Given the description of an element on the screen output the (x, y) to click on. 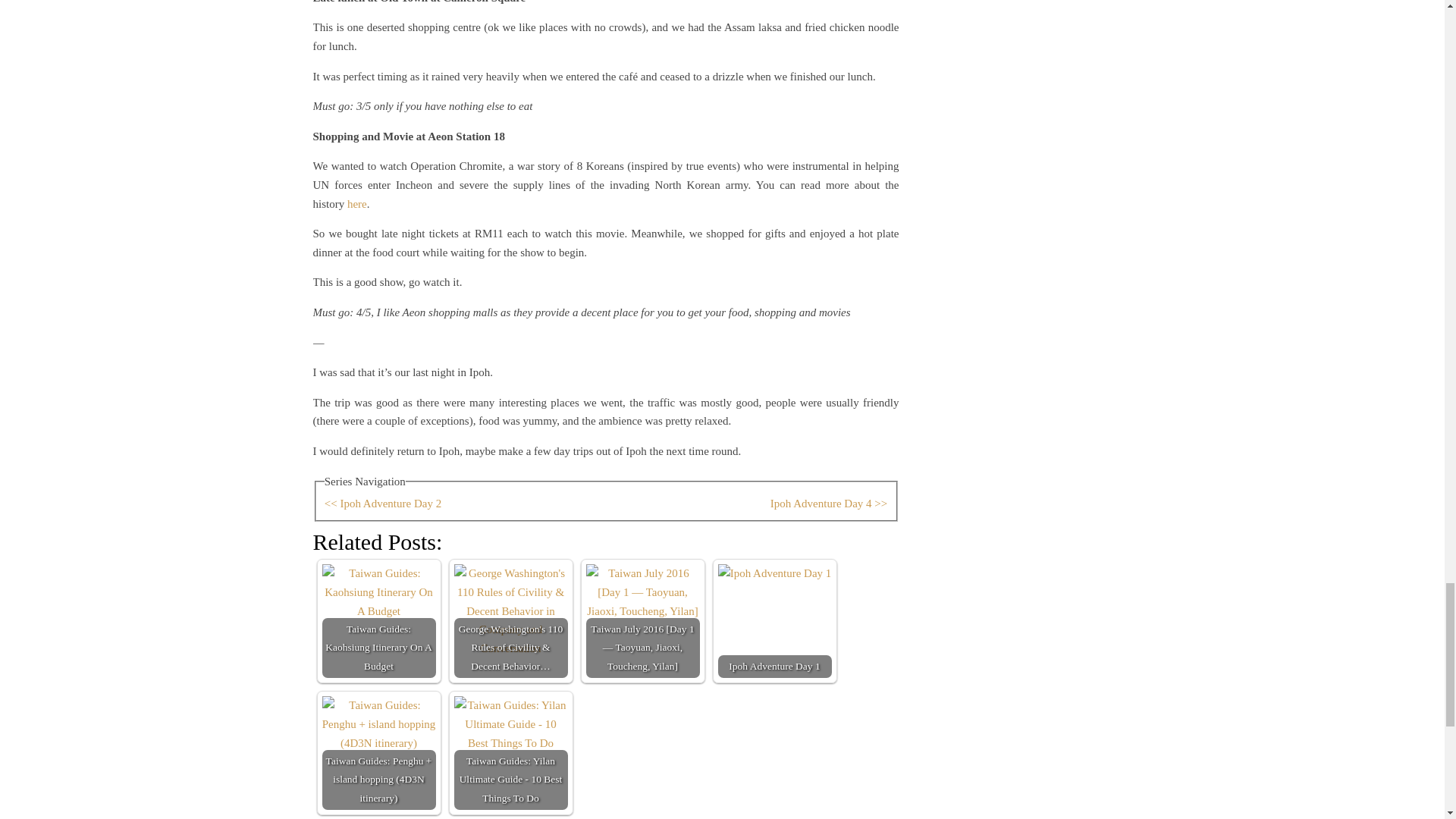
Taiwan Guides: Yilan Ultimate Guide - 10 Best Things To Do (509, 752)
Ipoh Adventure Day 1 (774, 621)
Taiwan Guides: Kaohsiung Itinerary On A Budget (378, 621)
